Given the description of an element on the screen output the (x, y) to click on. 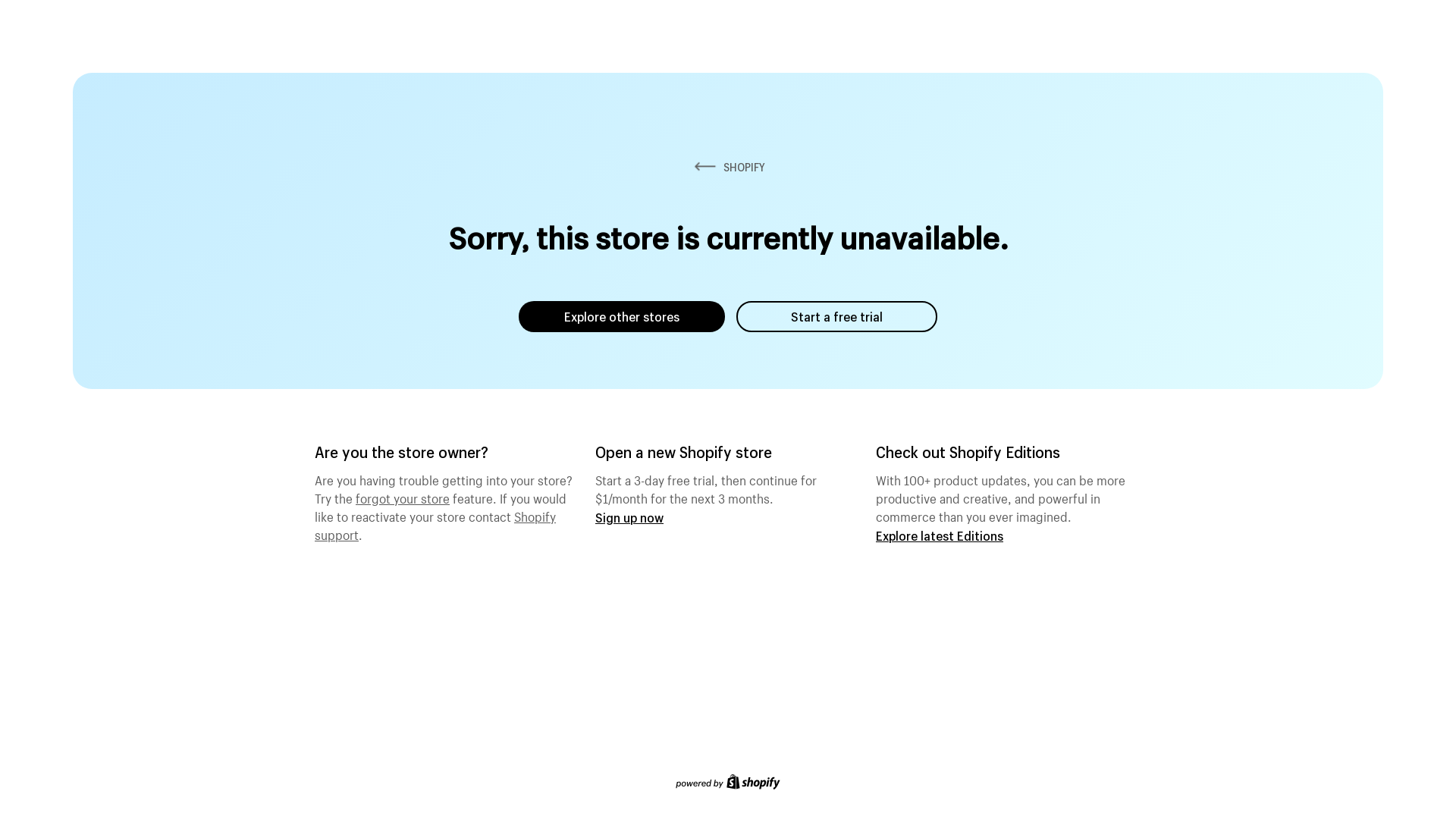
Sign up now Element type: text (629, 517)
Shopify support Element type: text (434, 523)
Start a free trial Element type: text (836, 316)
Explore other stores Element type: text (621, 316)
Explore latest Editions Element type: text (939, 535)
forgot your store Element type: text (402, 496)
SHOPIFY Element type: text (727, 167)
